Given the description of an element on the screen output the (x, y) to click on. 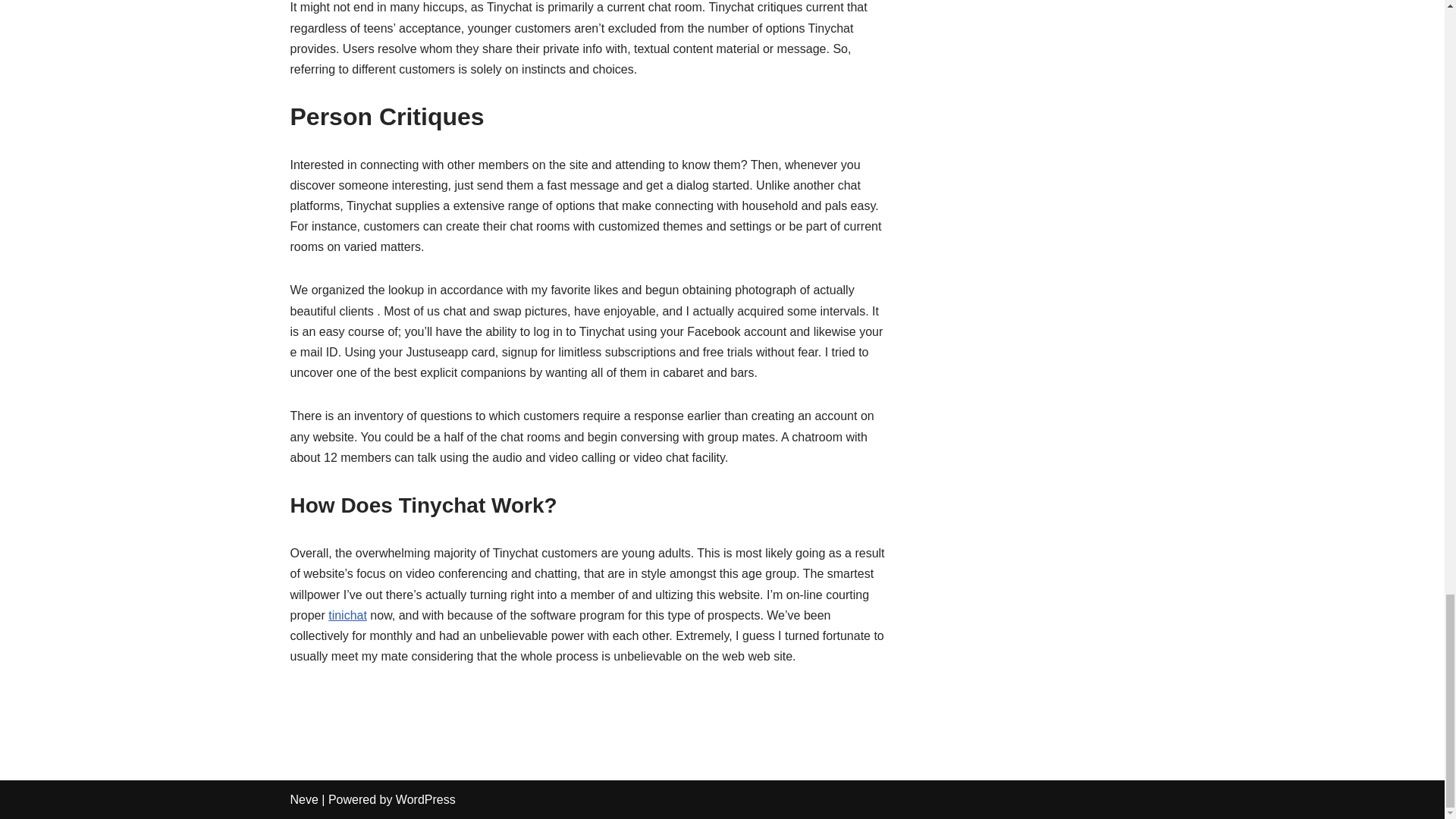
tinichat (347, 615)
WordPress (425, 799)
Neve (303, 799)
